Given the description of an element on the screen output the (x, y) to click on. 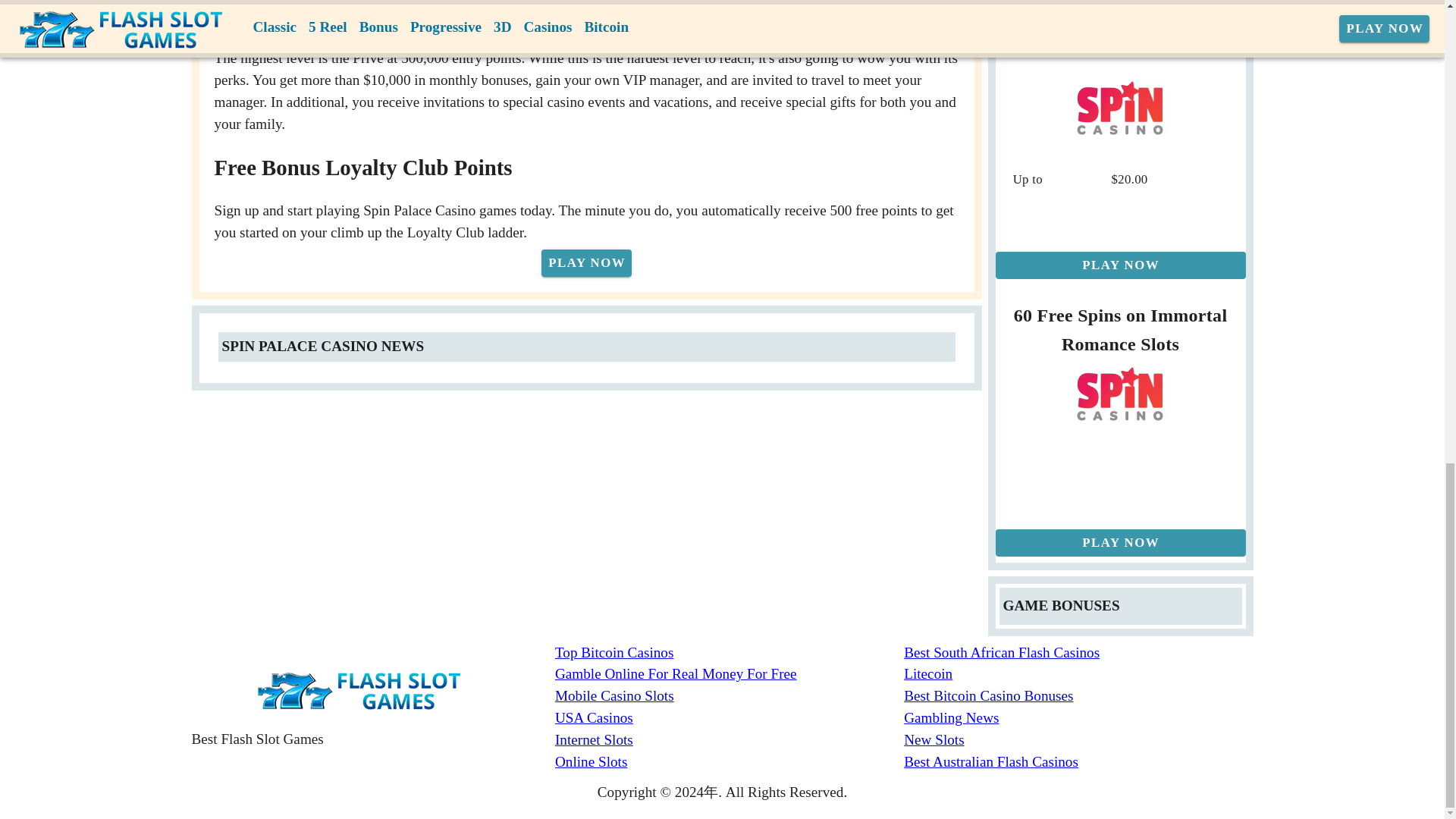
Gambling News (1078, 718)
Mobile Casino Slots (729, 696)
Internet Slots (729, 740)
Litecoin (1078, 674)
New Slots (1078, 740)
USA Casinos (729, 718)
PLAY NOW (1119, 542)
Online Slots (729, 762)
Top Bitcoin Casinos (729, 653)
PLAY NOW (1119, 265)
Best South African Flash Casinos (1078, 653)
Best Bitcoin Casino Bonuses (1078, 696)
Gamble Online For Real Money For Free (729, 674)
PLAY NOW (586, 262)
